Given the description of an element on the screen output the (x, y) to click on. 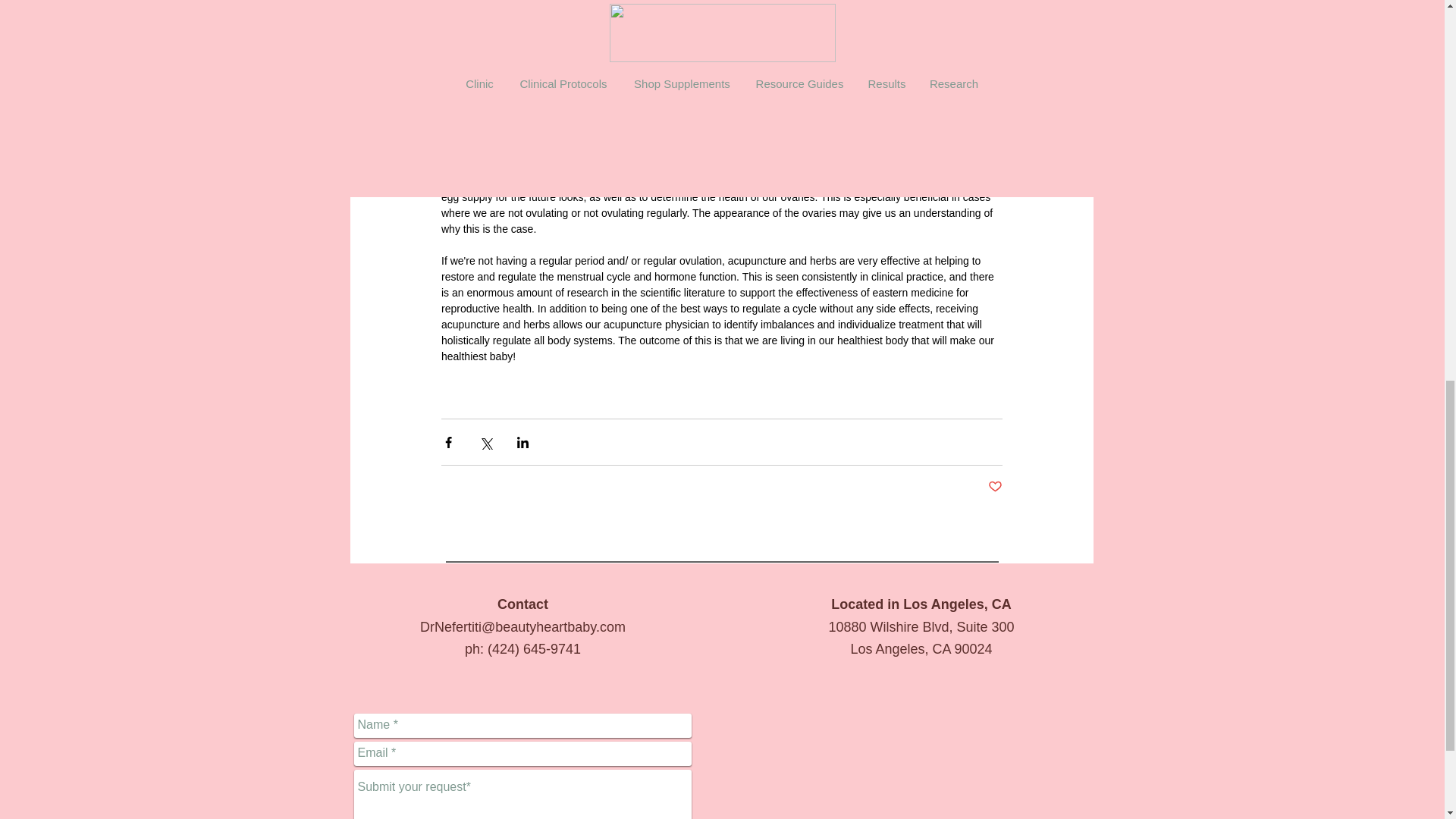
Post not marked as liked (994, 487)
Google Maps (920, 764)
